Given the description of an element on the screen output the (x, y) to click on. 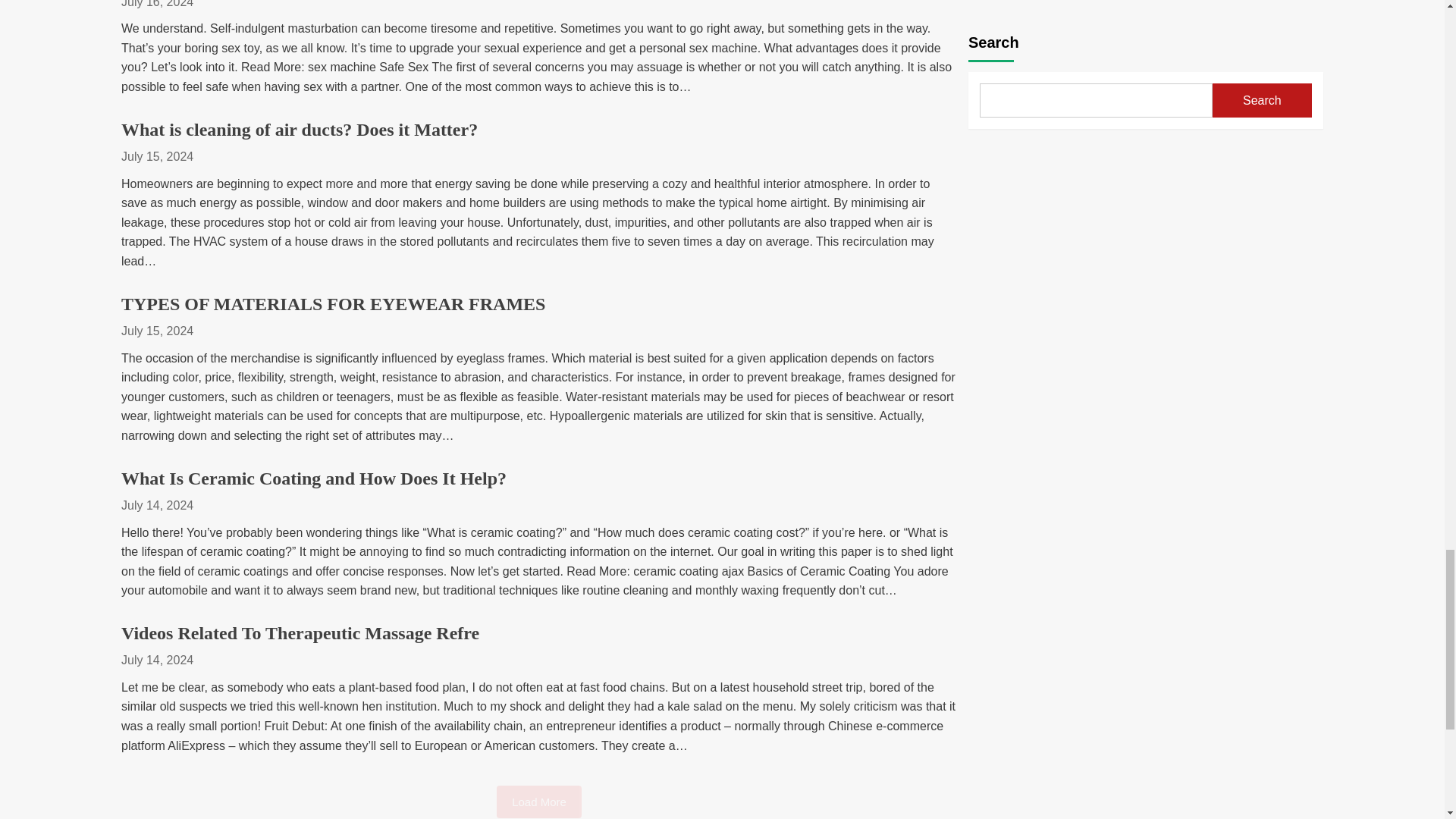
Videos Related To Therapeutic Massage Refre (299, 632)
What Is Ceramic Coating and How Does It Help? (313, 478)
Load More (538, 801)
What is cleaning of air ducts? Does it Matter? (298, 129)
TYPES OF MATERIALS FOR EYEWEAR FRAMES (332, 303)
